Given the description of an element on the screen output the (x, y) to click on. 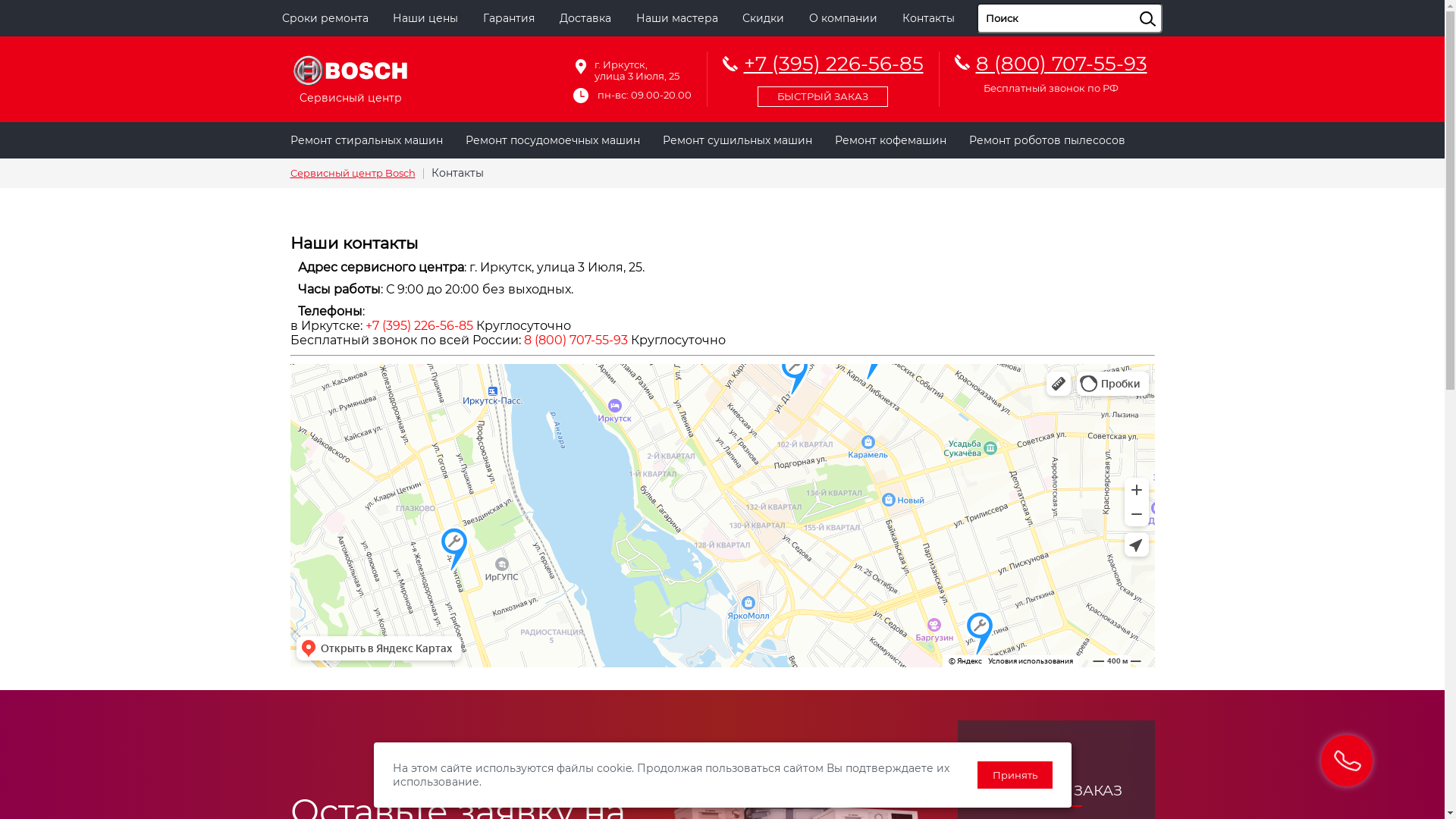
8 (800) 707-55-93 Element type: text (1060, 63)
+7 (395) 226-56-85 Element type: text (821, 77)
sisea.search Element type: text (1165, 3)
+7 (395) 226-56-85 Element type: text (419, 325)
8 (800) 707-55-93 Element type: text (575, 339)
